Given the description of an element on the screen output the (x, y) to click on. 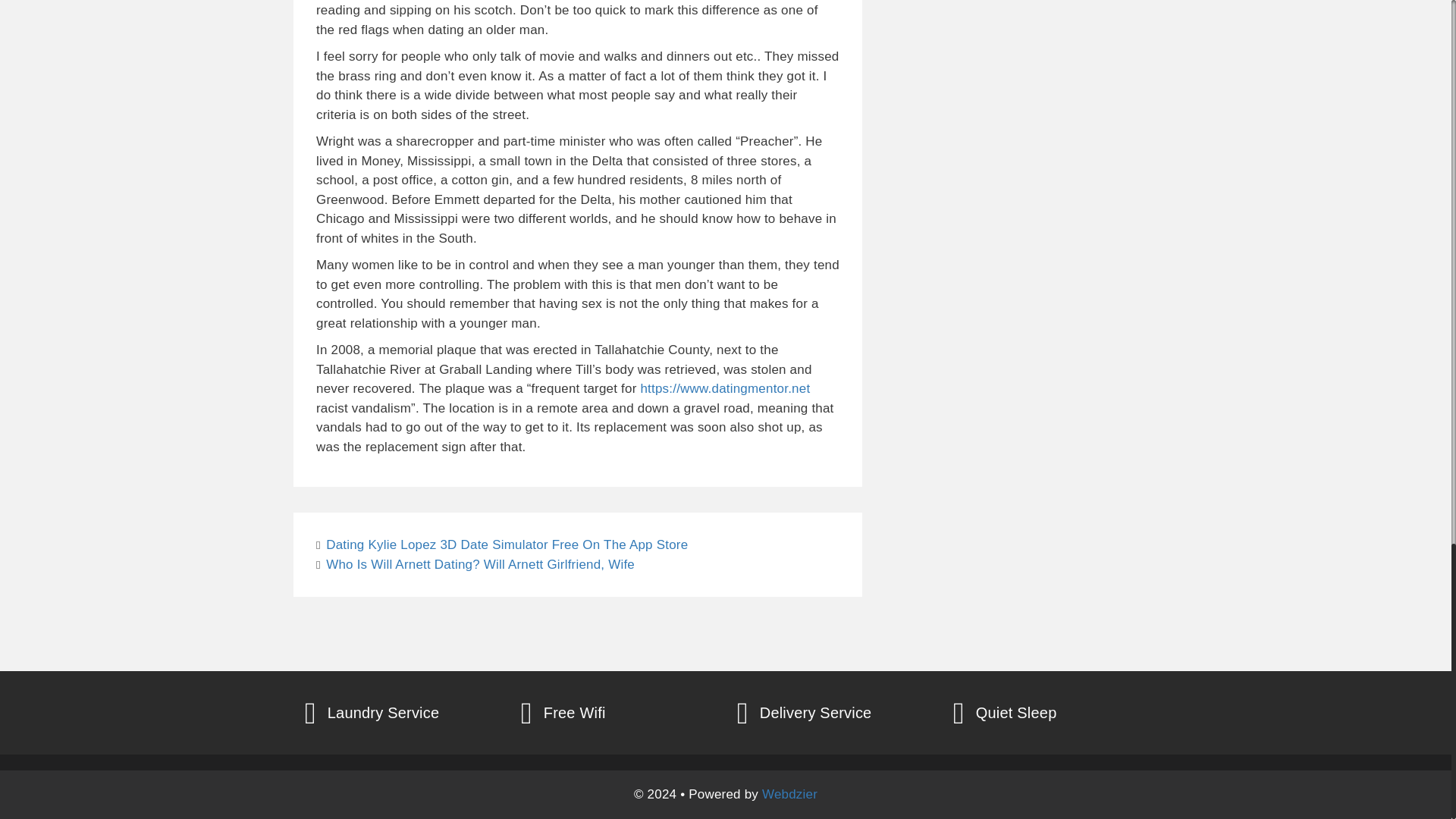
thecabinhostel.com (382, 184)
Previous (501, 544)
Who Is Will Arnett Dating? Will Arnett Girlfriend, Wife (480, 564)
Dating Kylie Lopez 3D Date Simulator Free On The App Store (506, 544)
Nasser.Abu.Sad (469, 97)
April 1, 2023 (363, 155)
Next (474, 564)
Webdzier (788, 794)
